Given the description of an element on the screen output the (x, y) to click on. 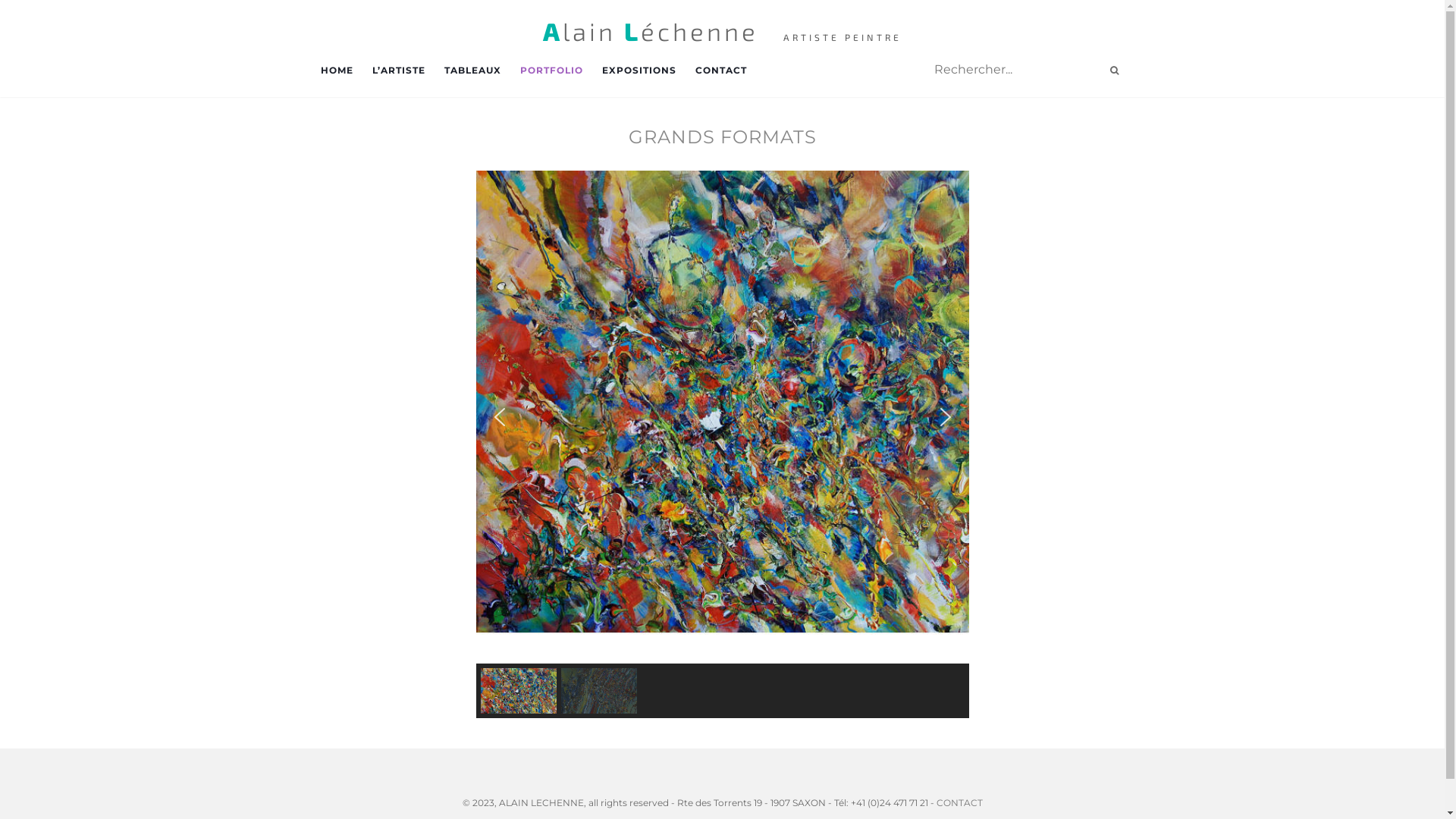
EXPOSITIONS Element type: text (639, 70)
CONTACT Element type: text (958, 802)
CONTACT Element type: text (720, 70)
PORTFOLIO Element type: text (551, 70)
Search Element type: text (1114, 70)
TABLEAUX Element type: text (472, 70)
HOME Element type: text (336, 70)
